Given the description of an element on the screen output the (x, y) to click on. 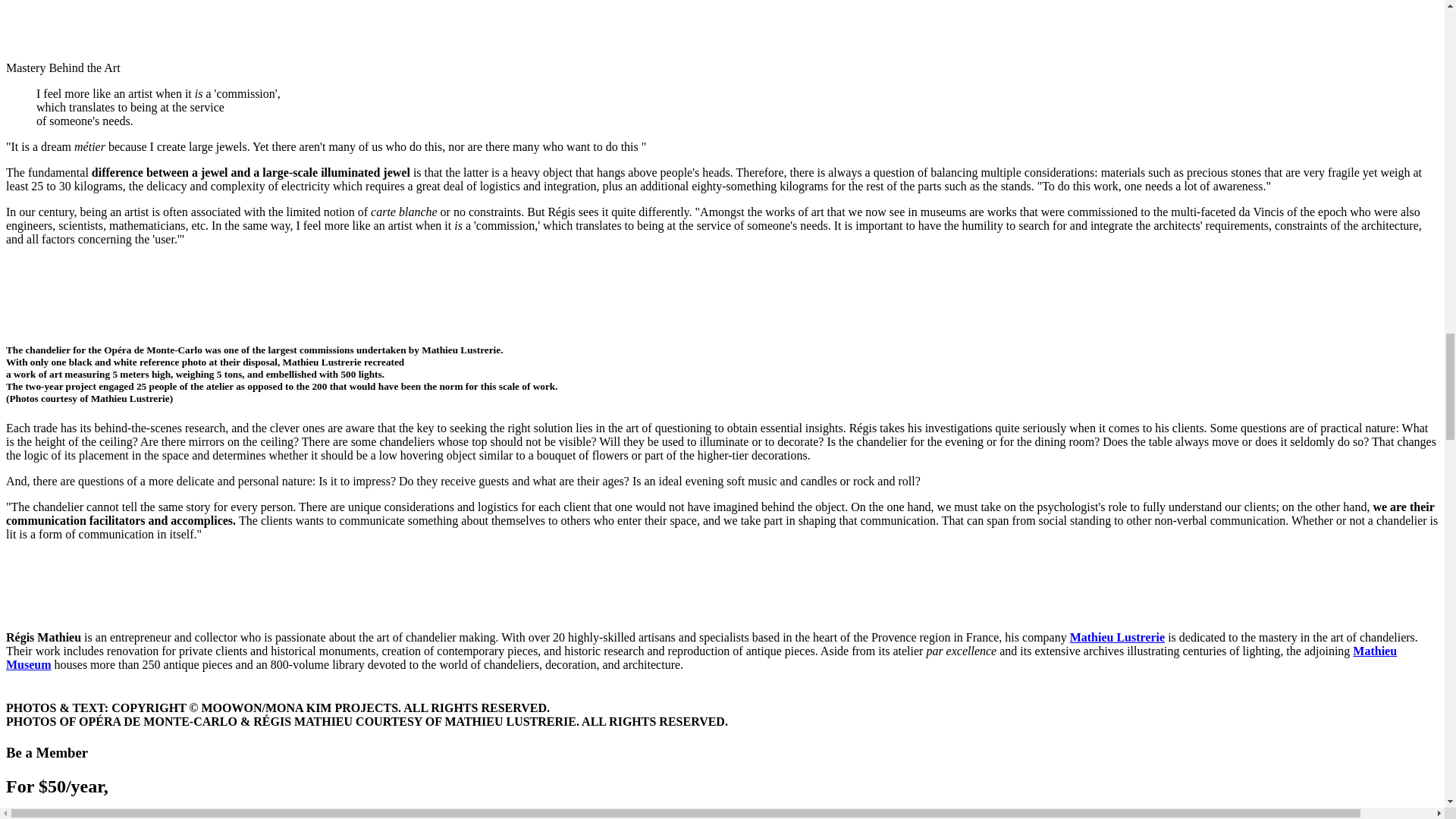
Mathieu Lustrerie (1117, 636)
Mathieu Museum (700, 657)
